Given the description of an element on the screen output the (x, y) to click on. 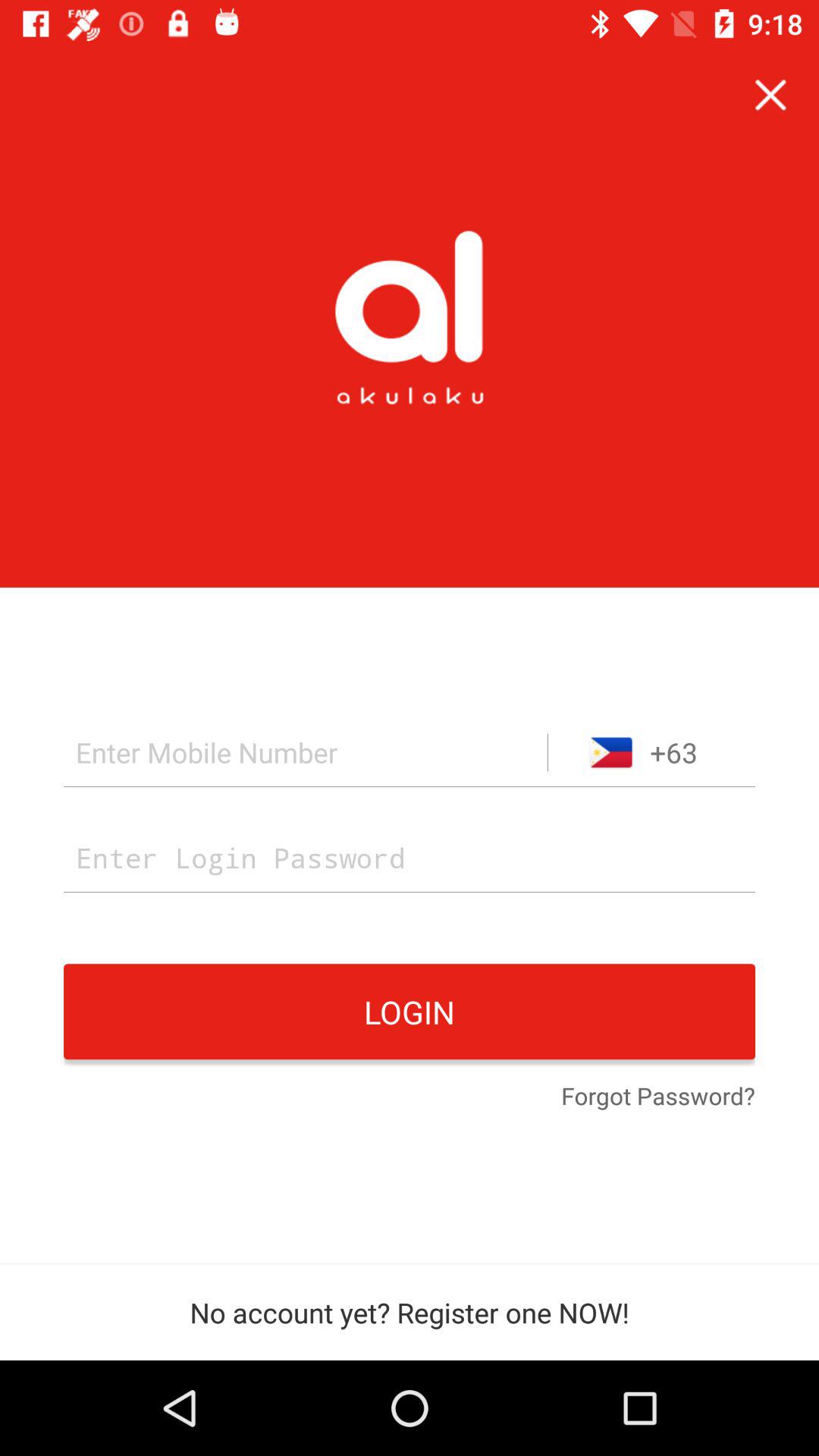
jump until login icon (409, 1011)
